Given the description of an element on the screen output the (x, y) to click on. 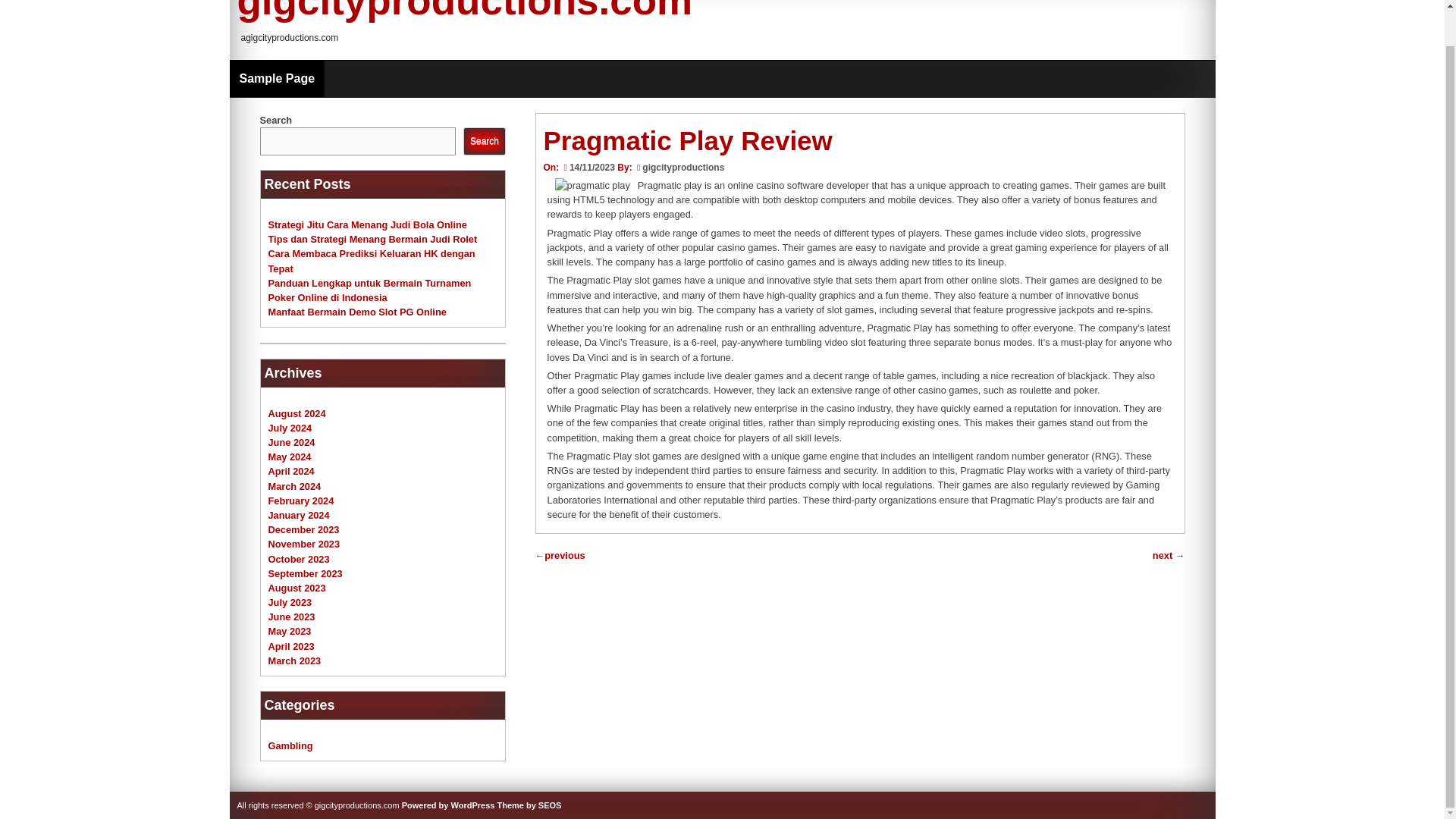
Search (484, 141)
December 2023 (303, 529)
January 2024 (298, 514)
July 2024 (290, 428)
February 2024 (300, 500)
May 2023 (289, 631)
Seos free wordpress themes (528, 804)
Strategi Jitu Cara Menang Judi Bola Online (367, 224)
Powered by WordPress (448, 804)
Manfaat Bermain Demo Slot PG Online (356, 311)
March 2024 (294, 486)
November 2023 (303, 543)
May 2024 (289, 456)
August 2023 (296, 587)
